Given the description of an element on the screen output the (x, y) to click on. 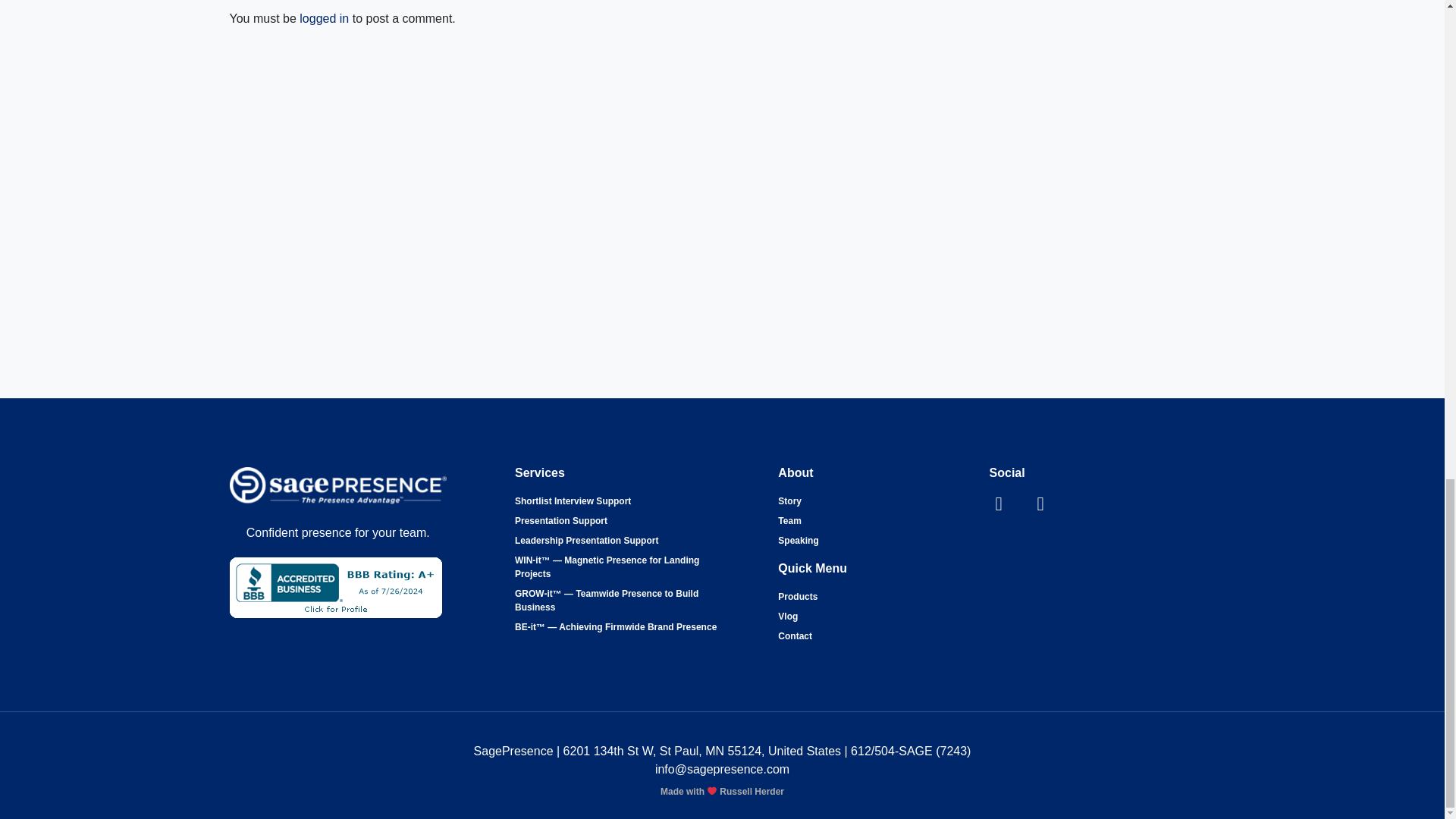
logged in (324, 18)
Shortlist Interview Support (572, 500)
